Given the description of an element on the screen output the (x, y) to click on. 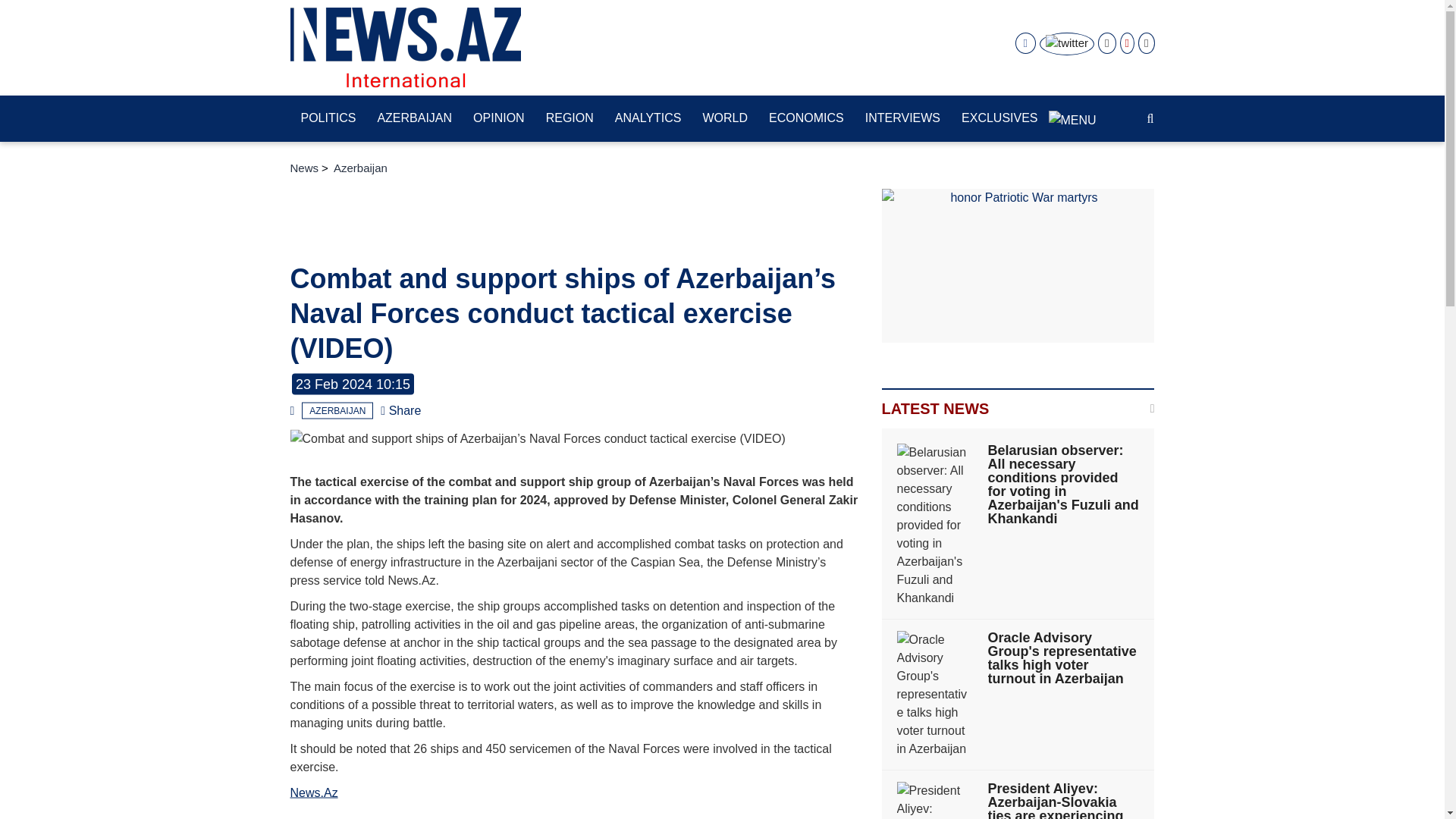
ECONOMICS (806, 119)
EXCLUSIVES (999, 119)
OPINION (499, 119)
News (303, 167)
POLITICS (327, 119)
News.az (404, 47)
Menu (1072, 112)
REGION (569, 119)
23 Feb 2024 10:15 (352, 384)
WORLD (725, 119)
